Given the description of an element on the screen output the (x, y) to click on. 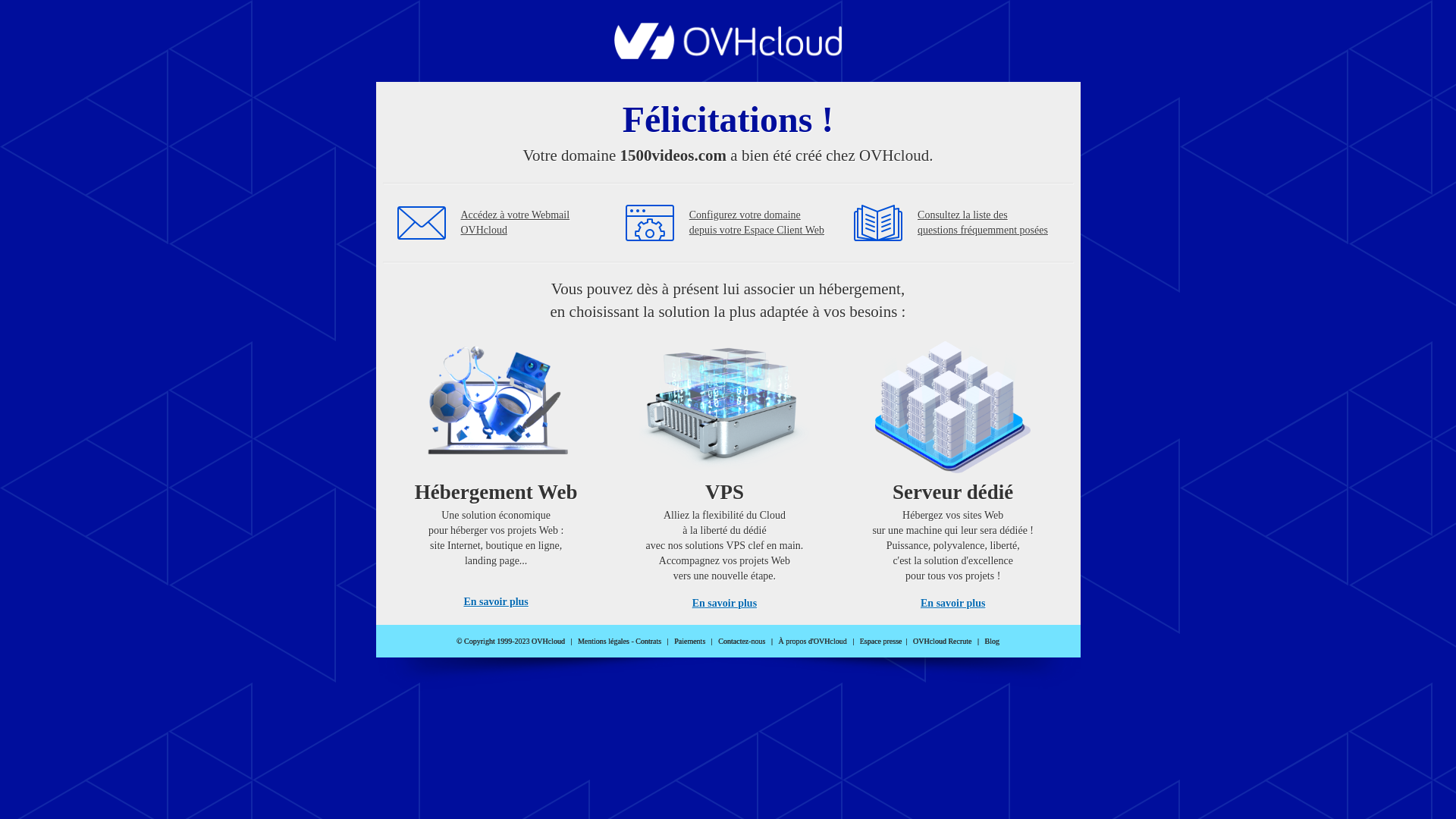
Espace presse Element type: text (880, 641)
Blog Element type: text (992, 641)
Paiements Element type: text (689, 641)
VPS Element type: hover (724, 469)
OVHcloud Recrute Element type: text (942, 641)
OVHcloud Element type: hover (727, 54)
Configurez votre domaine
depuis votre Espace Client Web Element type: text (756, 222)
En savoir plus Element type: text (495, 601)
Contactez-nous Element type: text (741, 641)
En savoir plus Element type: text (724, 602)
En savoir plus Element type: text (952, 602)
